Given the description of an element on the screen output the (x, y) to click on. 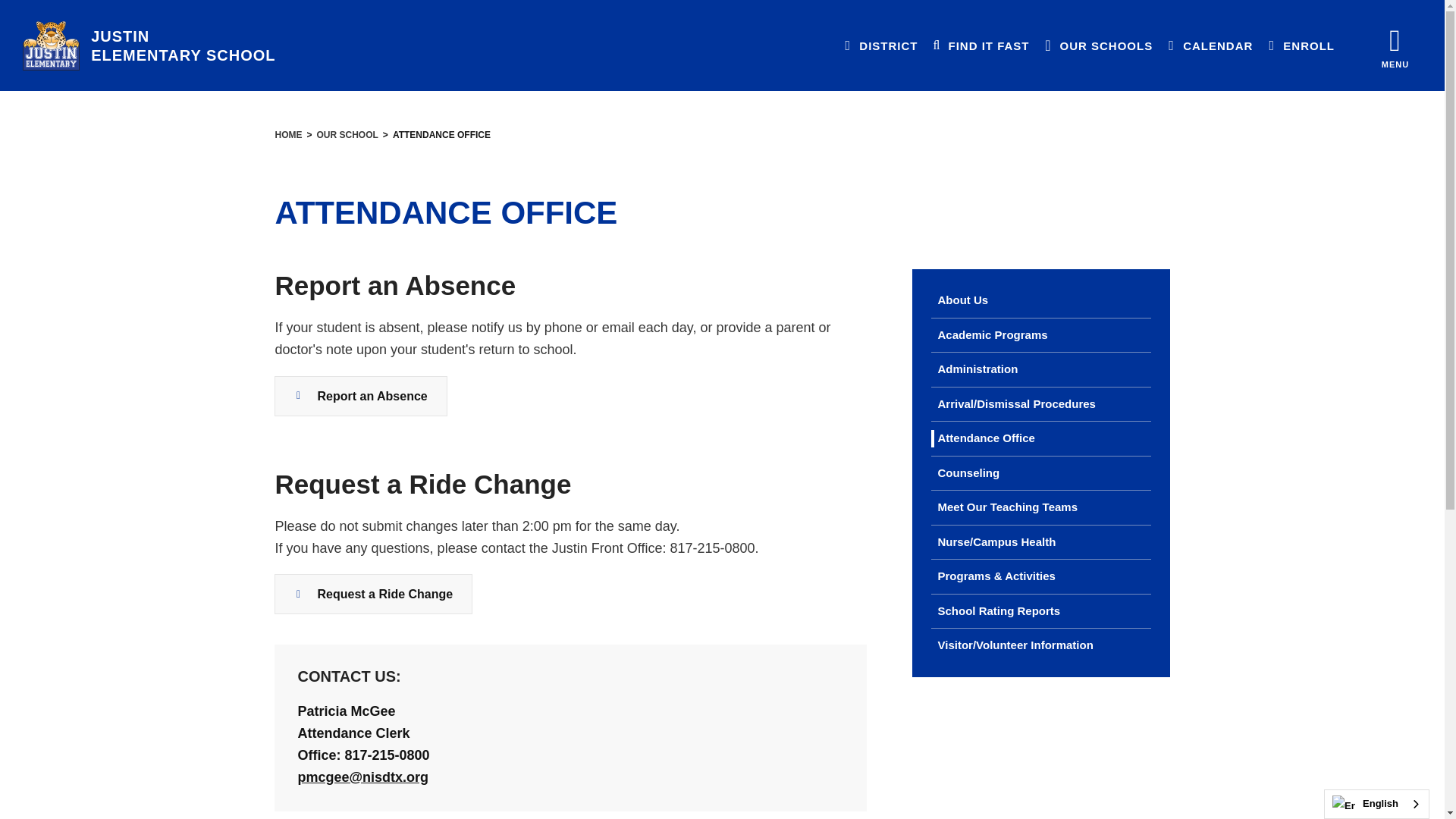
Request a ride change (373, 594)
Email P. McGee (362, 776)
Report an Absence (360, 395)
